Given the description of an element on the screen output the (x, y) to click on. 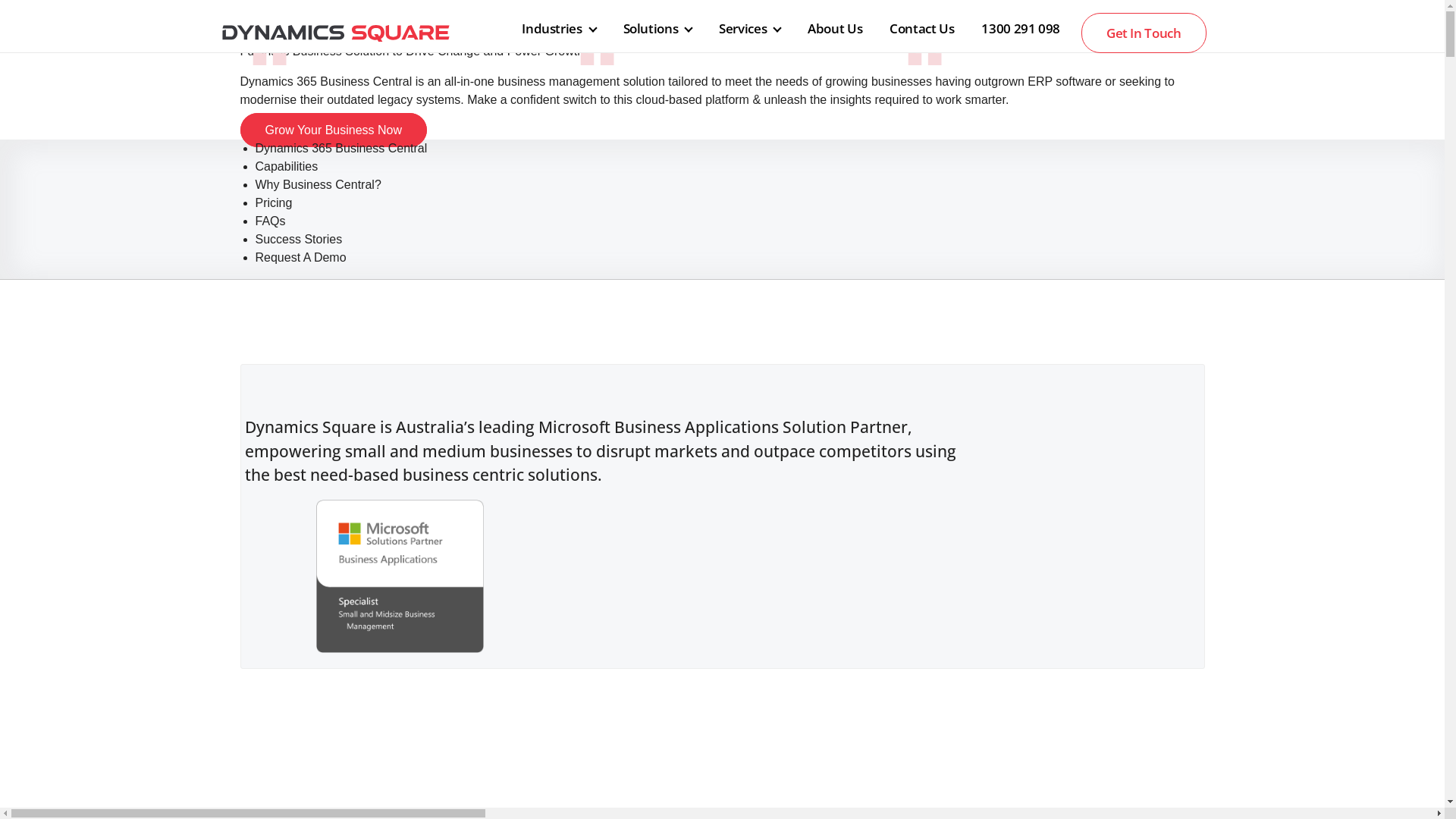
Success Stories Element type: text (298, 238)
Dynamics 365 Business Central Element type: text (340, 147)
Capabilities Element type: text (285, 166)
Contact Us Element type: text (921, 28)
About Us Element type: text (834, 28)
Get In Touch Element type: text (1143, 32)
Pricing Element type: text (272, 202)
Solutions Element type: text (657, 28)
Grow Your Business Now Element type: text (332, 129)
Industries Element type: text (558, 28)
Request A Demo Element type: text (299, 257)
FAQs Element type: text (269, 220)
Why Business Central? Element type: text (317, 184)
Services Element type: text (749, 28)
1300 291 098 Element type: text (1020, 28)
